Given the description of an element on the screen output the (x, y) to click on. 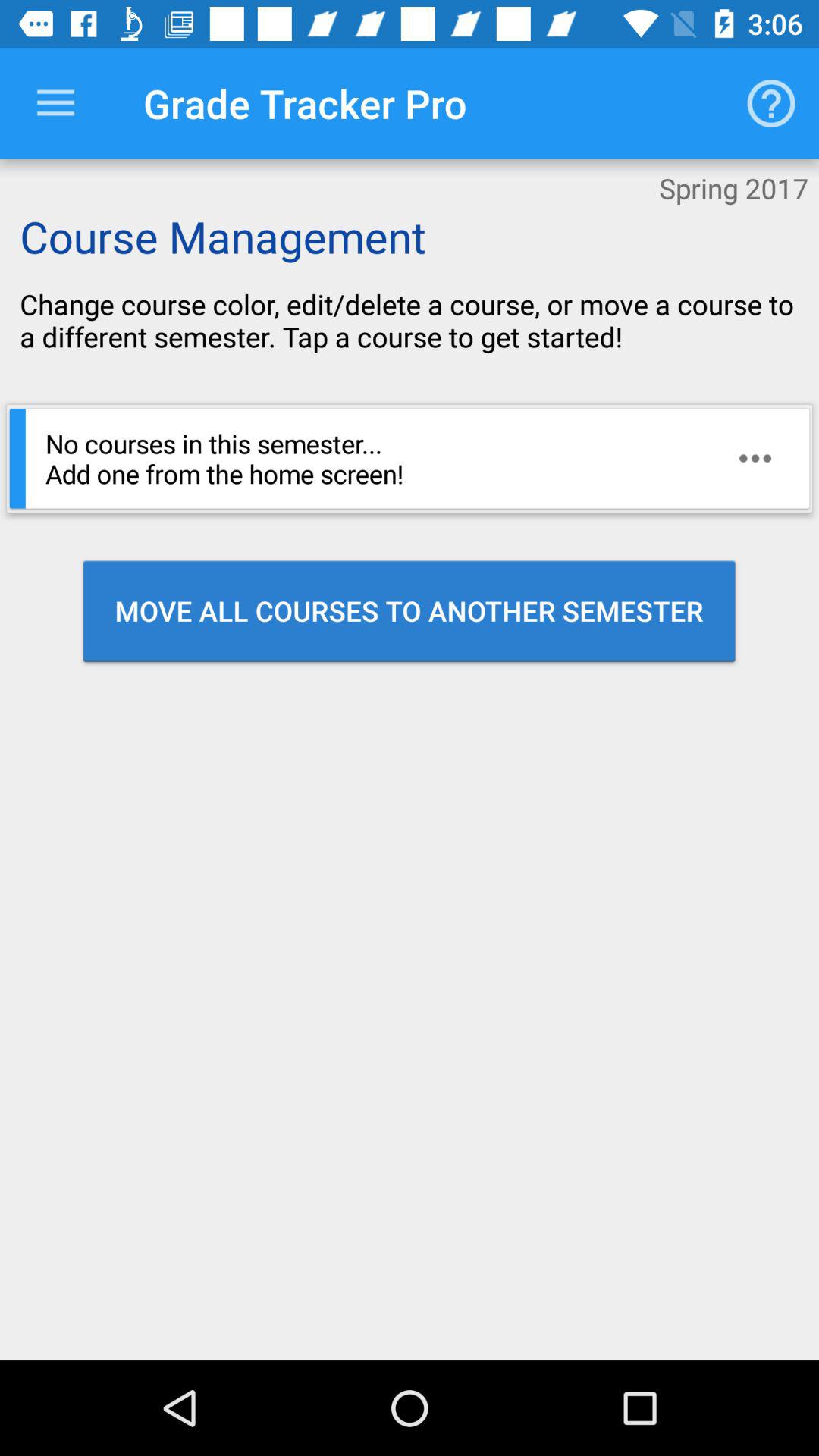
launch the item above spring 2017 (771, 103)
